Given the description of an element on the screen output the (x, y) to click on. 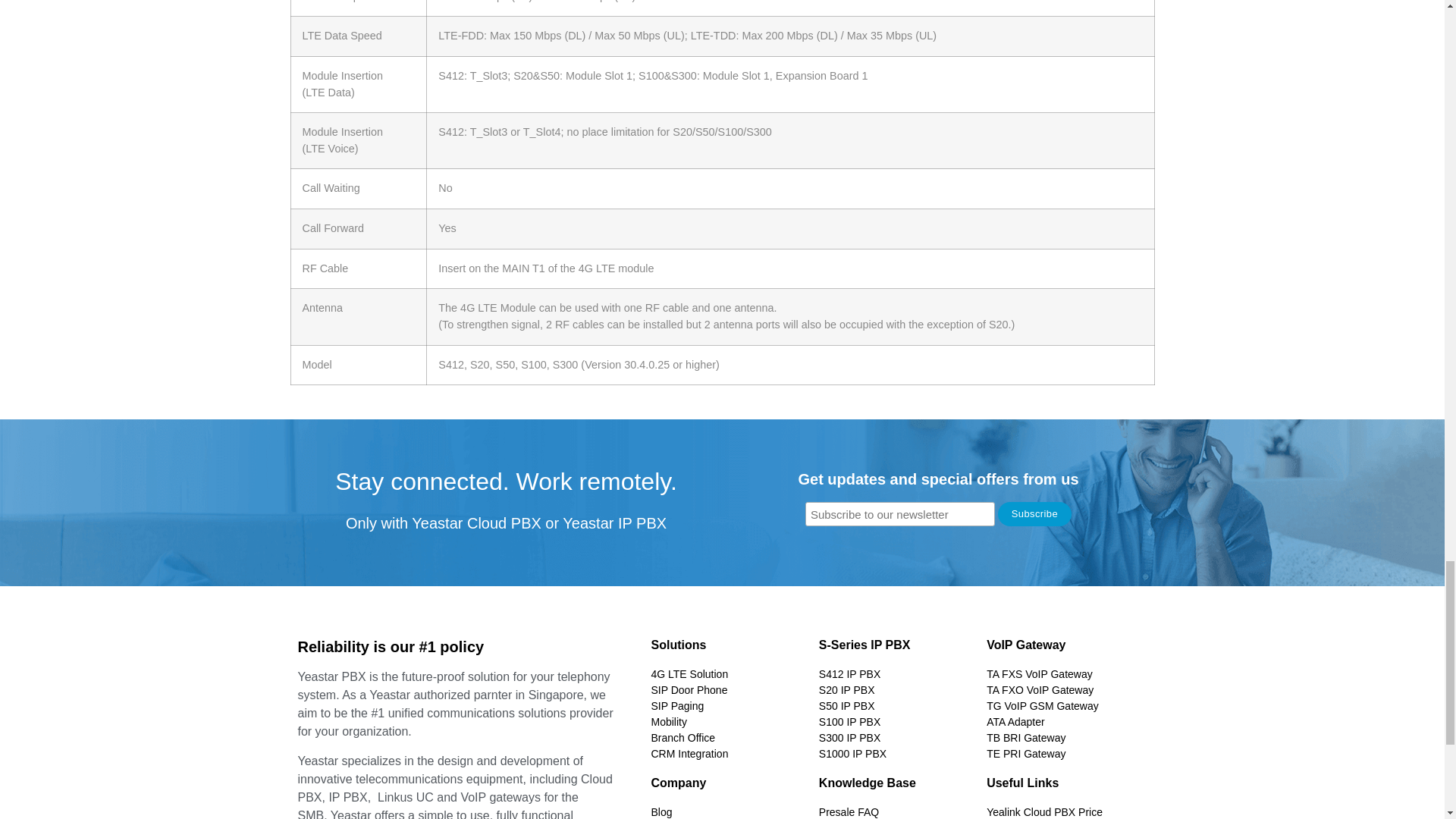
CRM Integration (726, 754)
SIP Paging (726, 706)
S50 IP PBX (894, 706)
Branch Office (726, 738)
SIP Door Phone (726, 690)
4G LTE Solution (726, 674)
S100 IP PBX (894, 722)
S20 IP PBX (894, 690)
Subscribe (1034, 514)
Mobility (726, 722)
S412 IP PBX (894, 674)
Subscribe (1034, 514)
